Given the description of an element on the screen output the (x, y) to click on. 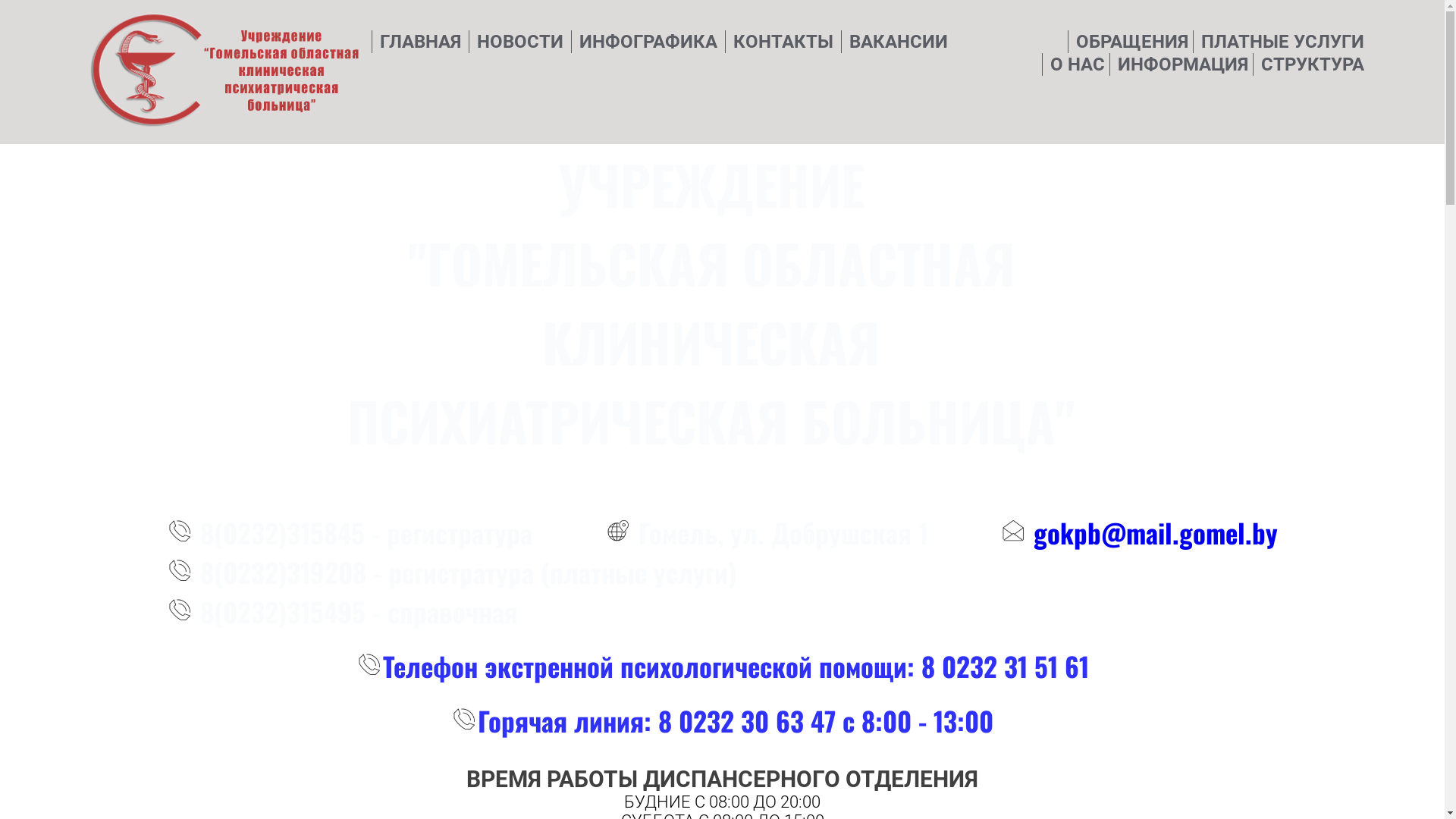
gokpb@mail.gomel.by Element type: text (1138, 532)
